Given the description of an element on the screen output the (x, y) to click on. 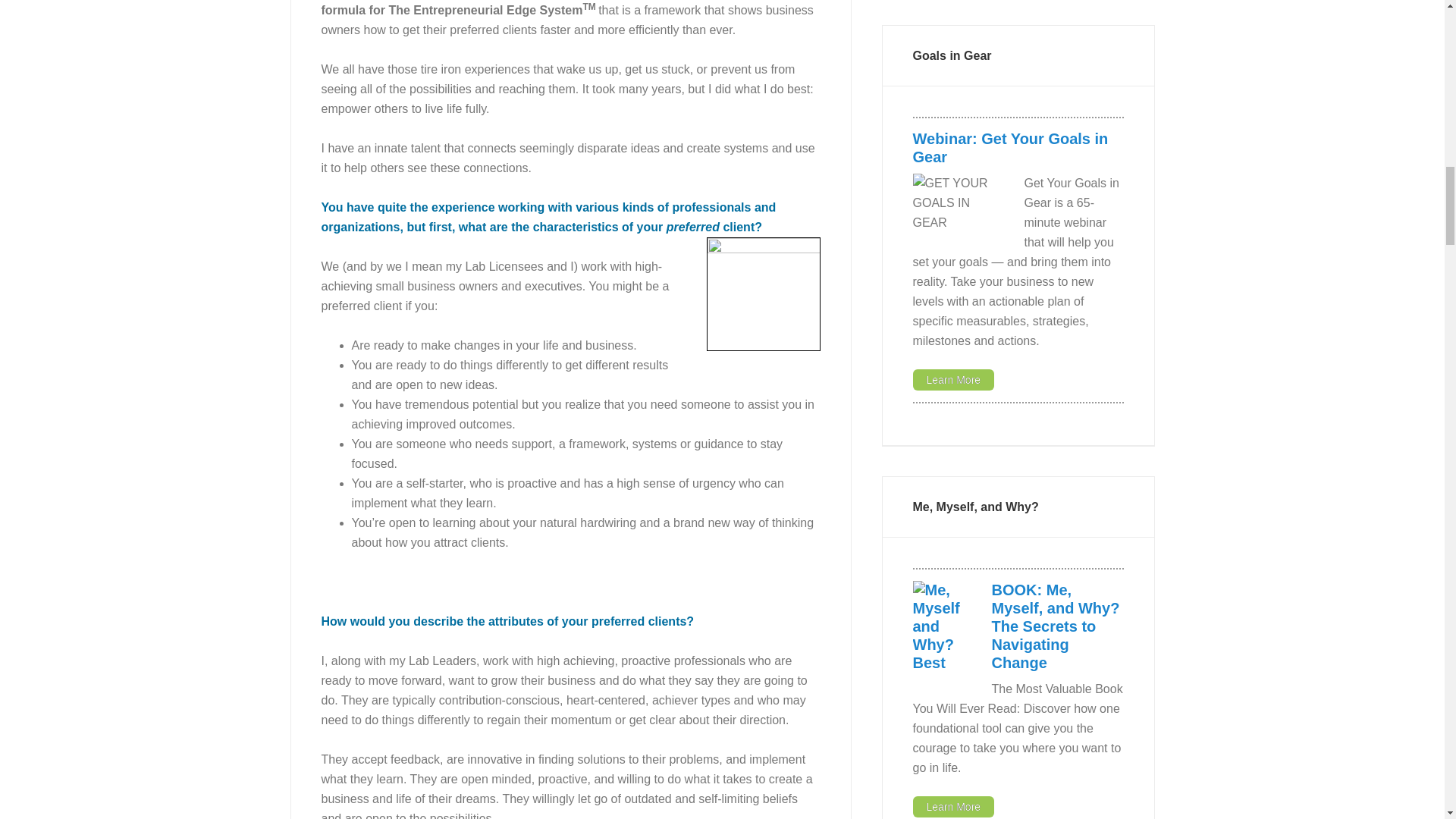
Me, Myself, and Why? The Secrets to Navigating Change (1055, 625)
Four Steps from Apathy to Accomplishment (763, 294)
